Given the description of an element on the screen output the (x, y) to click on. 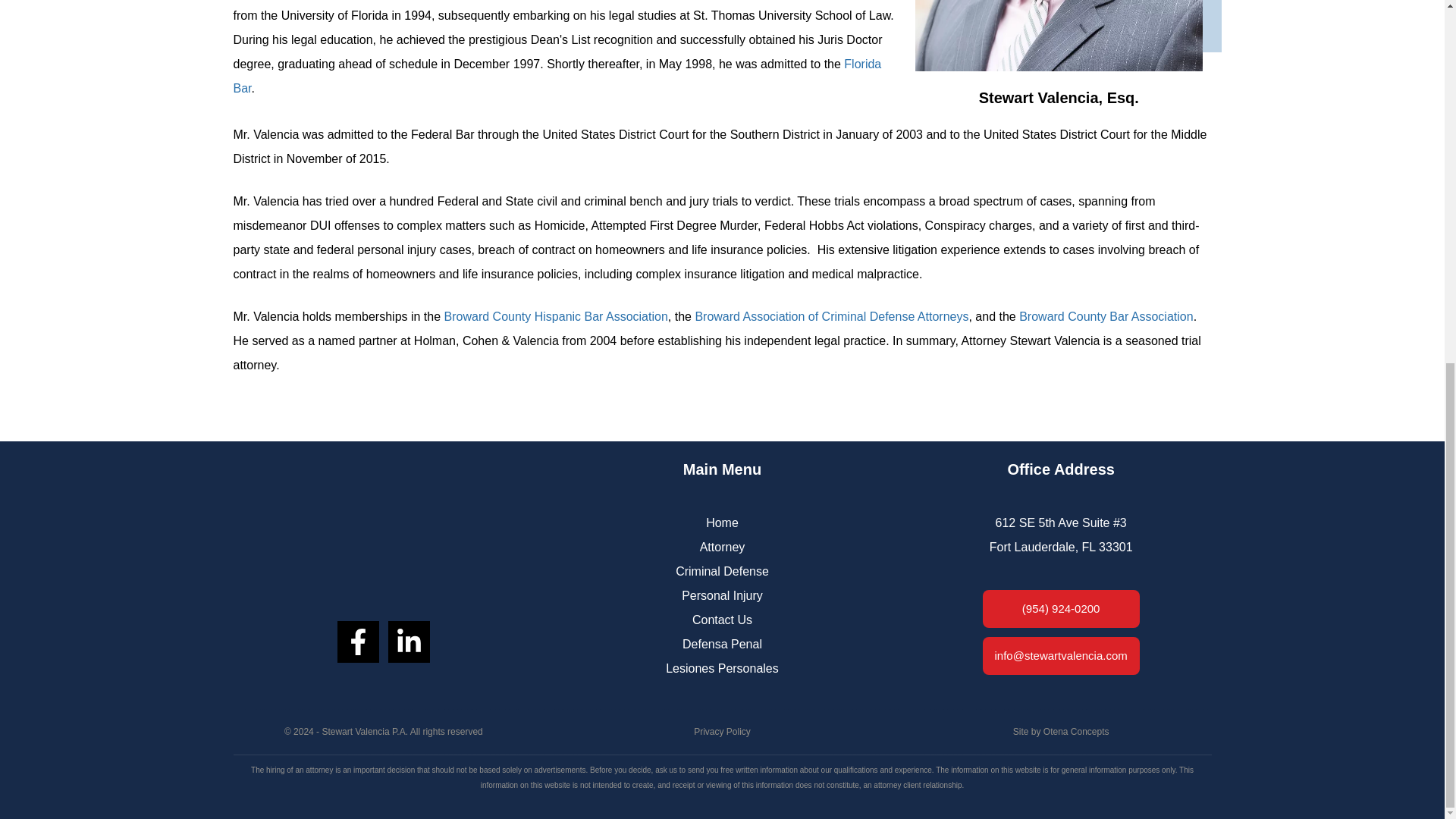
Broward Association of Criminal Defense Attorneys (831, 316)
Home (722, 522)
Broward County Hispanic Bar Association (556, 316)
Florida Bar (557, 76)
Broward County Bar Association (1105, 316)
